Given the description of an element on the screen output the (x, y) to click on. 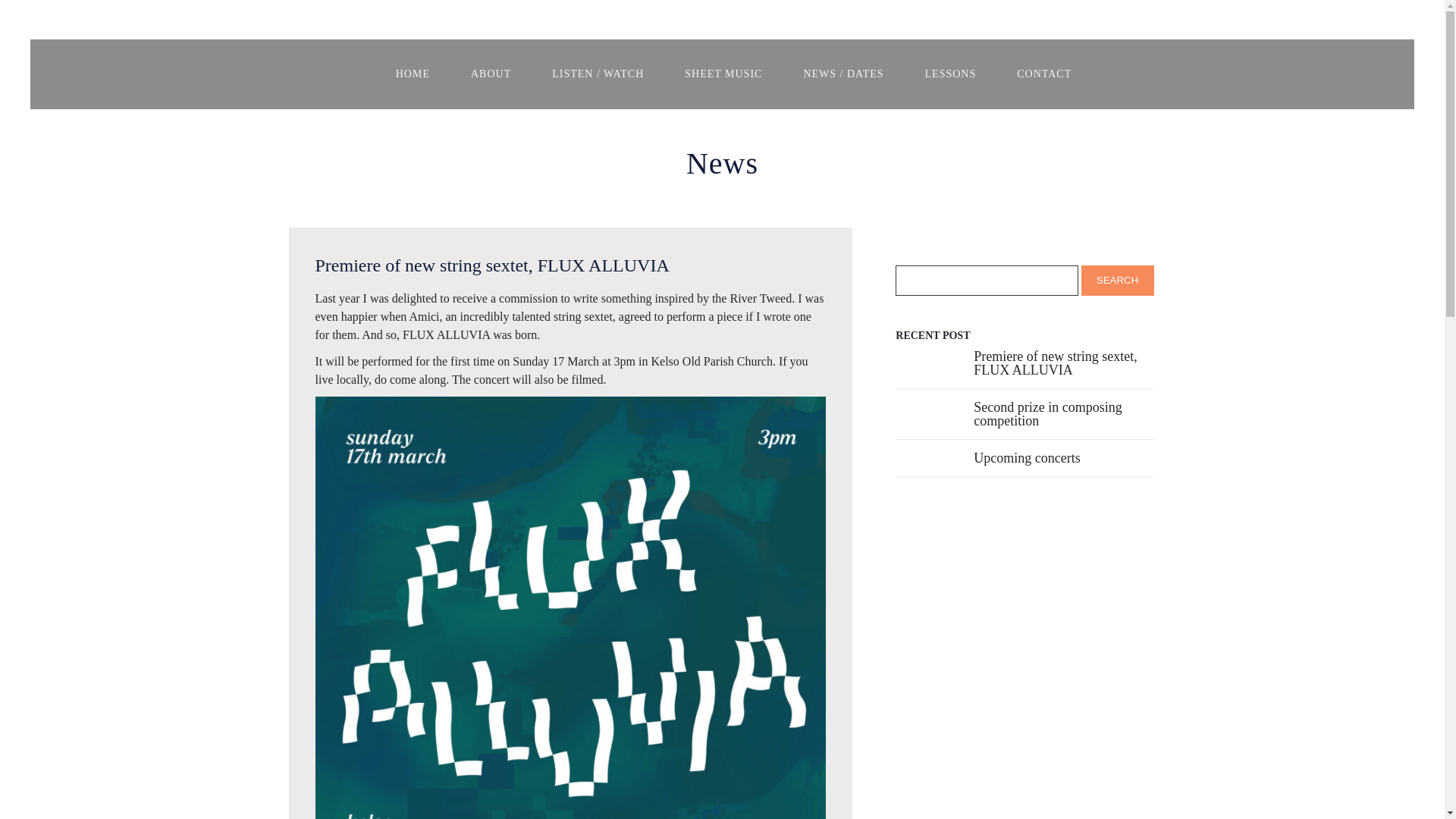
Search (1117, 280)
Premiere of new string sextet, FLUX ALLUVIA (1065, 362)
CONTACT (1043, 74)
Upcoming concerts (1065, 458)
LESSONS (950, 74)
Premiere of new string sextet, FLUX ALLUVIA (571, 264)
Second prize in composing competition (1065, 413)
Search (1117, 280)
ABOUT (490, 74)
HOME (412, 74)
